Given the description of an element on the screen output the (x, y) to click on. 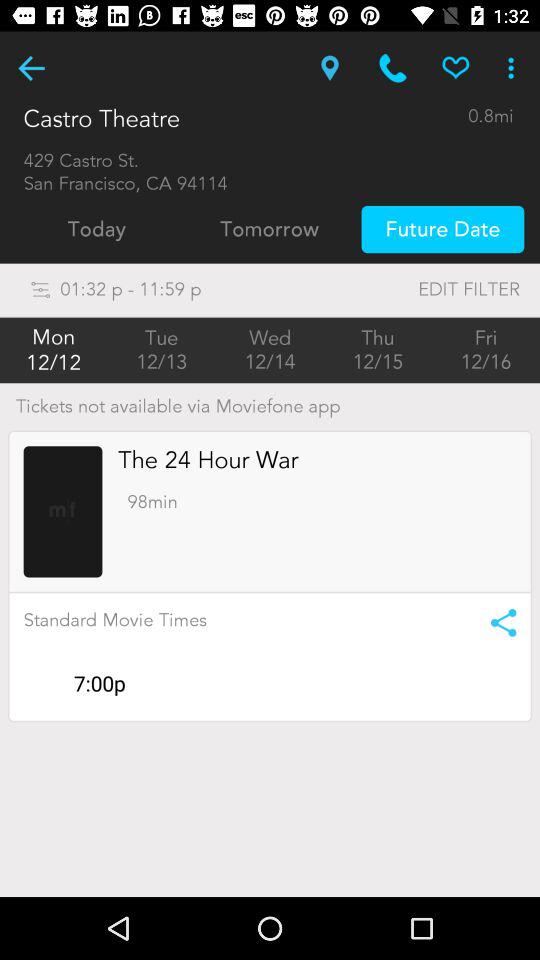
tap the item above 98min item (208, 460)
